Given the description of an element on the screen output the (x, y) to click on. 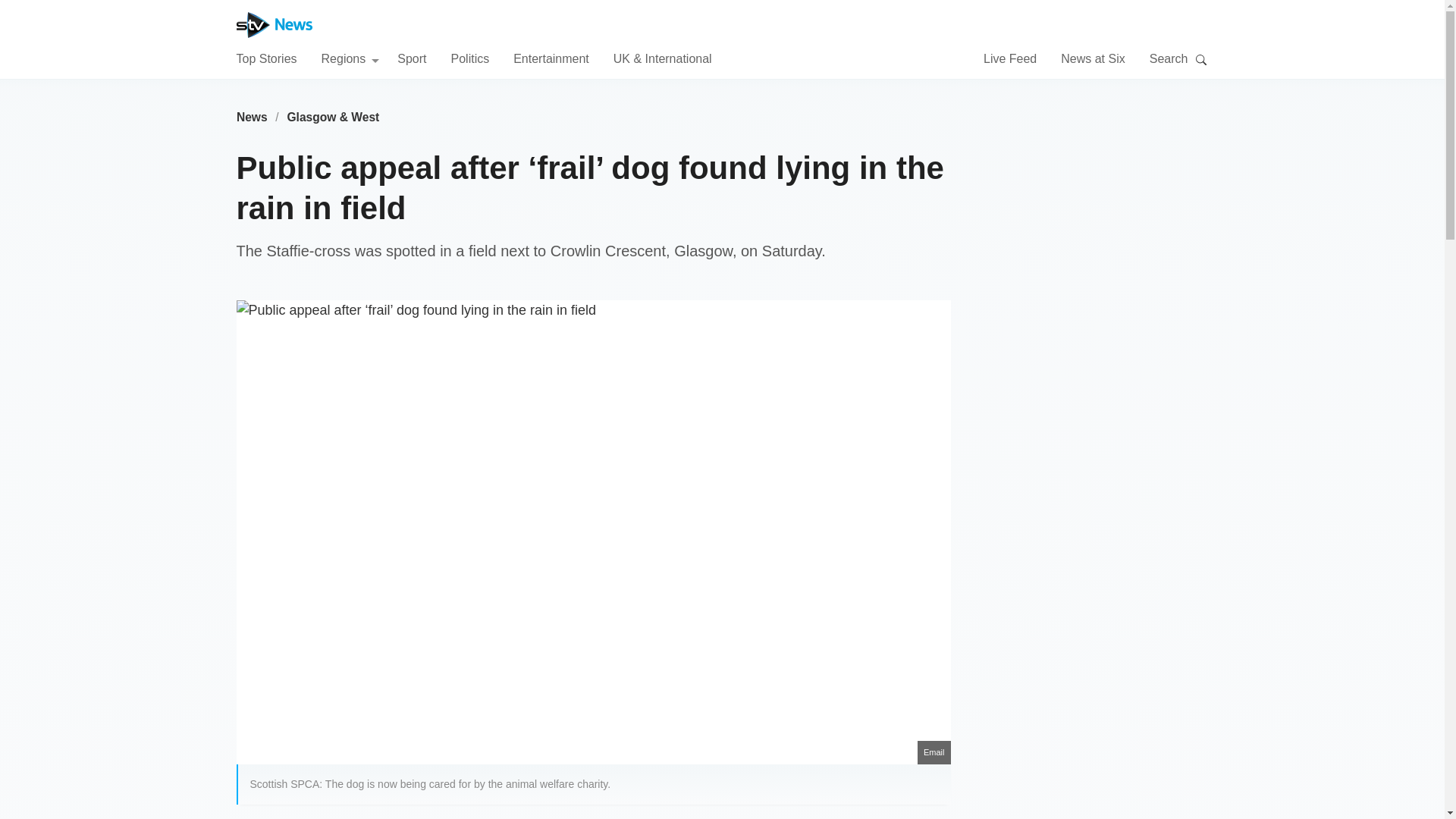
News at Six (1092, 57)
News (252, 116)
Search (1201, 59)
Politics (469, 57)
Live Feed (1010, 57)
Entertainment (551, 57)
Regions (350, 57)
Top Stories (266, 57)
